Given the description of an element on the screen output the (x, y) to click on. 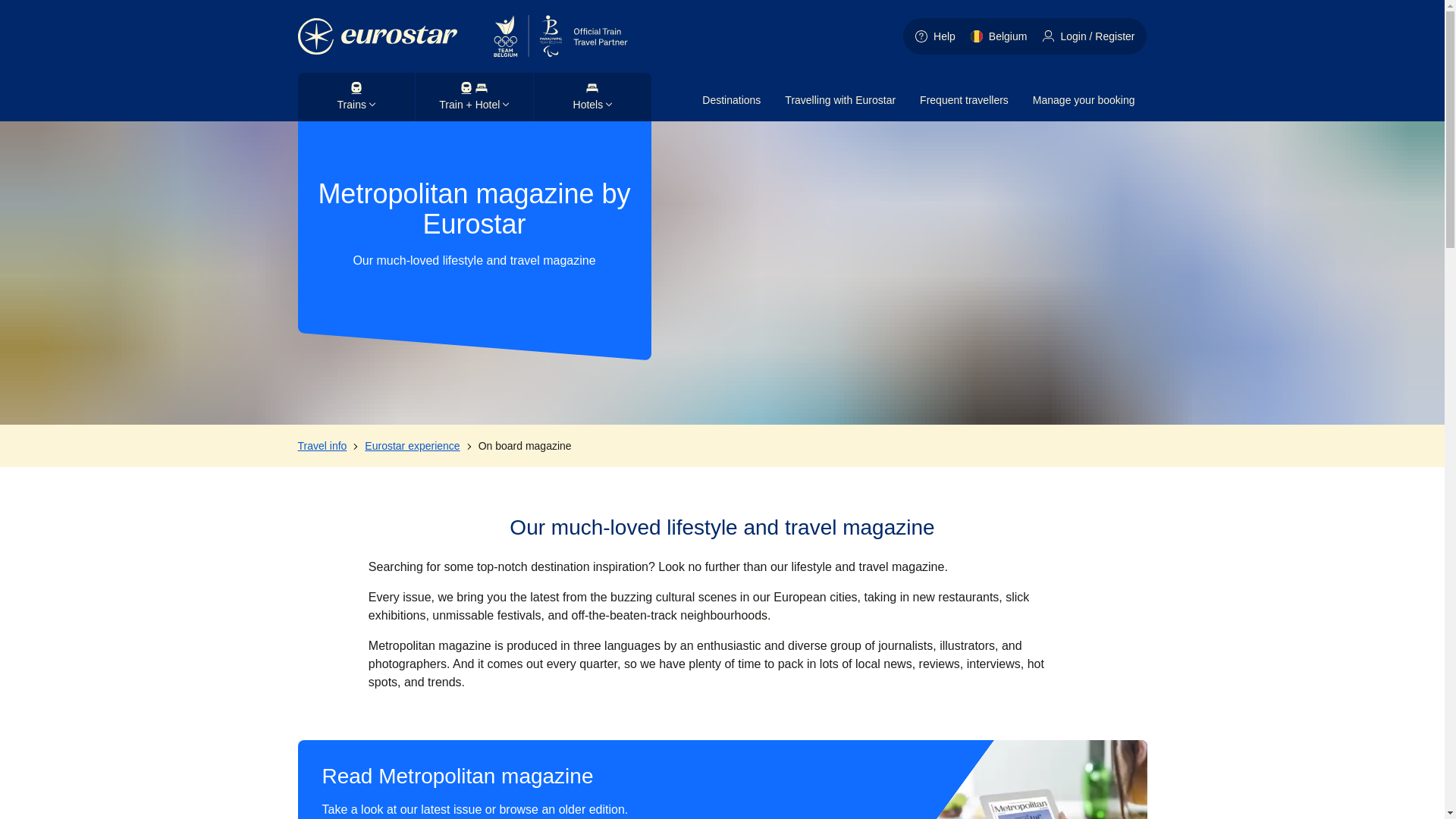
Manage your booking (1083, 105)
Trains (355, 96)
Belgium (1002, 36)
Travelling with Eurostar (840, 105)
Frequent travellers (963, 105)
Eurostar experience (412, 445)
Skip to main content (70, 8)
Destinations (731, 105)
Hotels (593, 96)
Help (937, 36)
